Given the description of an element on the screen output the (x, y) to click on. 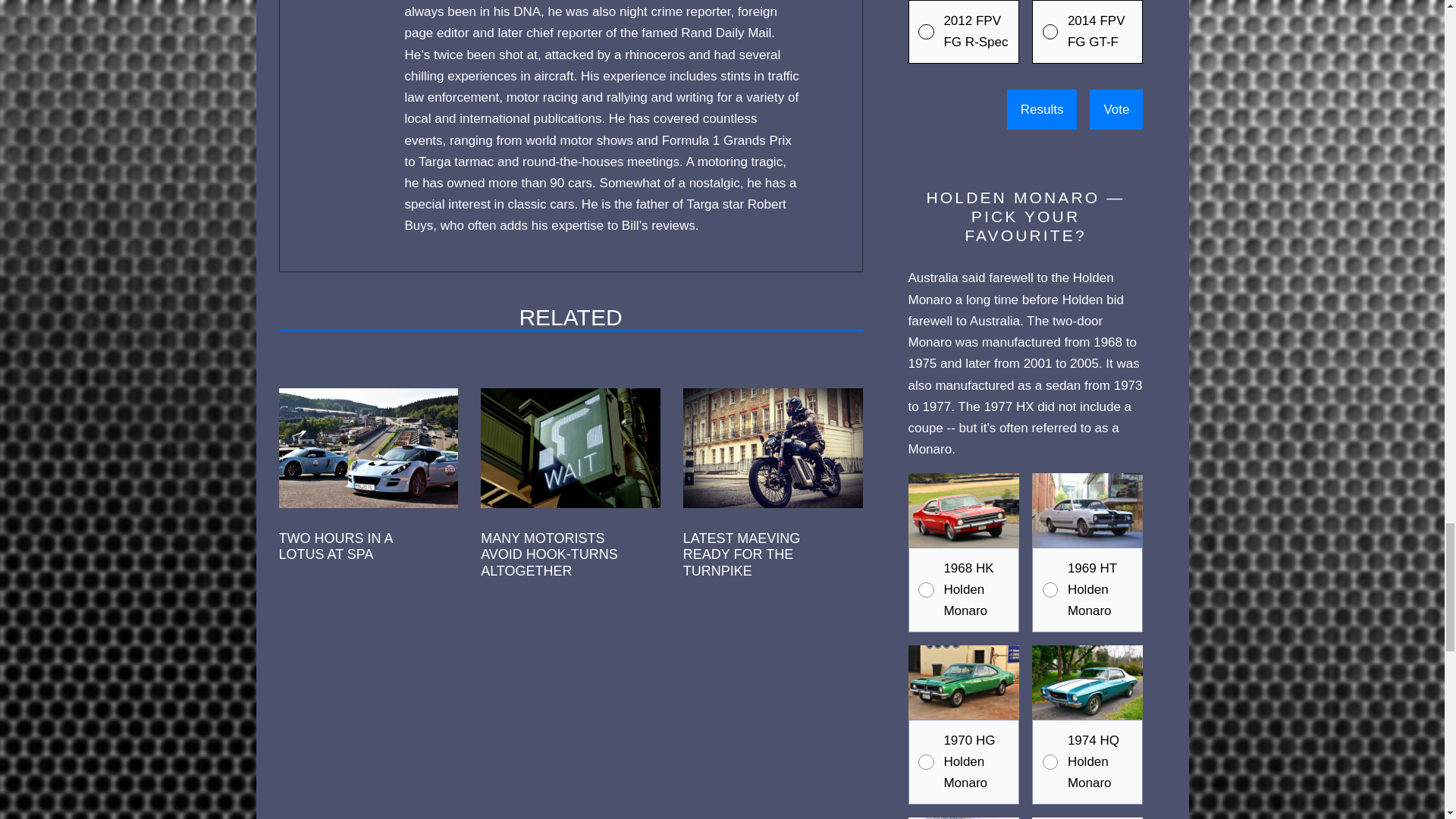
Lotus-Exiges-parked-up-at-Raidillon-1 (368, 447)
Wait-for-it (570, 447)
